Given the description of an element on the screen output the (x, y) to click on. 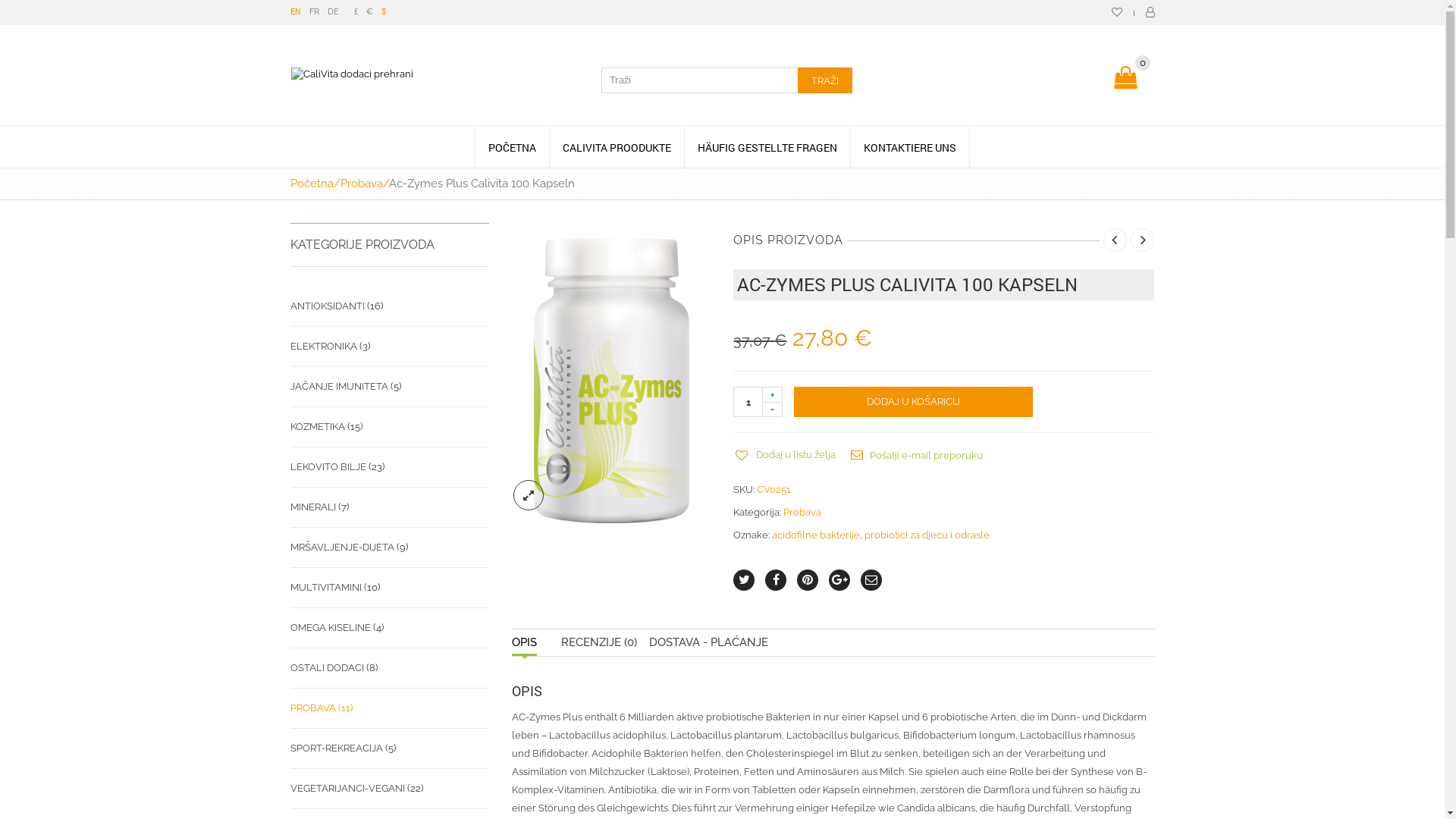
ELEKTRONIKA Element type: text (322, 346)
ANTIOKSIDANTI Element type: text (326, 306)
MULTIVITAMINI Element type: text (324, 587)
MINERALI Element type: text (312, 507)
SPORT-REKREACIJA Element type: text (335, 748)
OSTALI DODACI Element type: text (326, 667)
Qty Element type: hover (748, 401)
probiotici za djecu i odrasle Element type: text (926, 534)
CALIVITA PROODUKTE Element type: text (616, 147)
OMEGA KISELINE Element type: text (329, 627)
FR Element type: text (314, 11)
Ac-Zymes Plus CaliVita 100 kapsula Element type: hover (611, 380)
RECENZIJE (0) Element type: text (599, 642)
Probava Element type: text (802, 511)
VEGETARIJANCI-VEGANI Element type: text (346, 788)
lightbox Element type: text (528, 495)
KOZMETIKA Element type: text (316, 426)
KONTAKTIERE UNS Element type: text (909, 147)
OPIS Element type: text (523, 642)
Ac-Zymes Plus CaliVita 100 kapsula Element type: hover (611, 379)
PROBAVA Element type: text (312, 708)
DE Element type: text (332, 11)
LEKOVITO BILJE Element type: text (327, 466)
KATEGORIJE PROIZVODA Element type: text (389, 244)
Probava Element type: text (360, 183)
acidofilne bakterije Element type: text (815, 534)
